Given the description of an element on the screen output the (x, y) to click on. 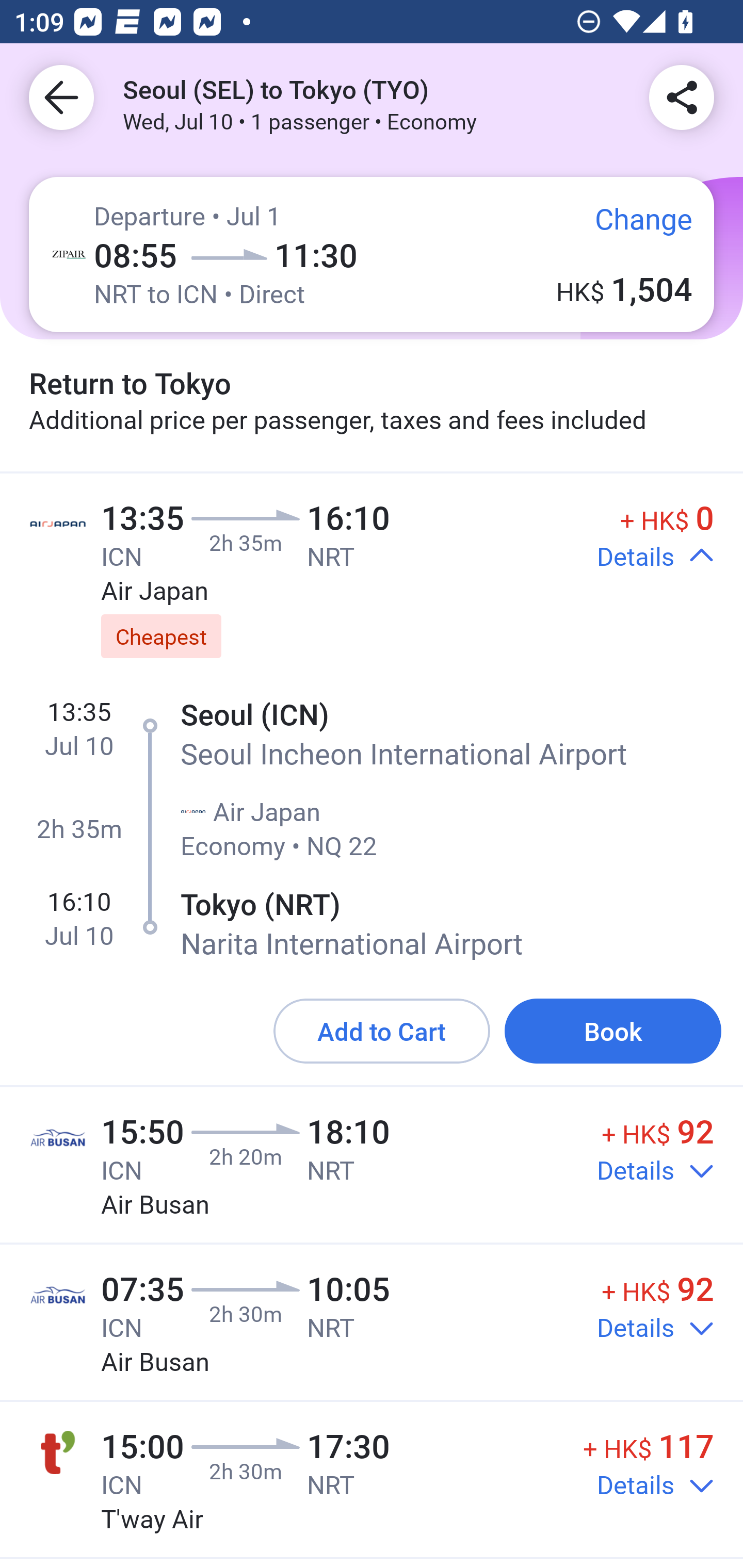
Change (629, 225)
Add to Cart (381, 1030)
Book (612, 1030)
